Given the description of an element on the screen output the (x, y) to click on. 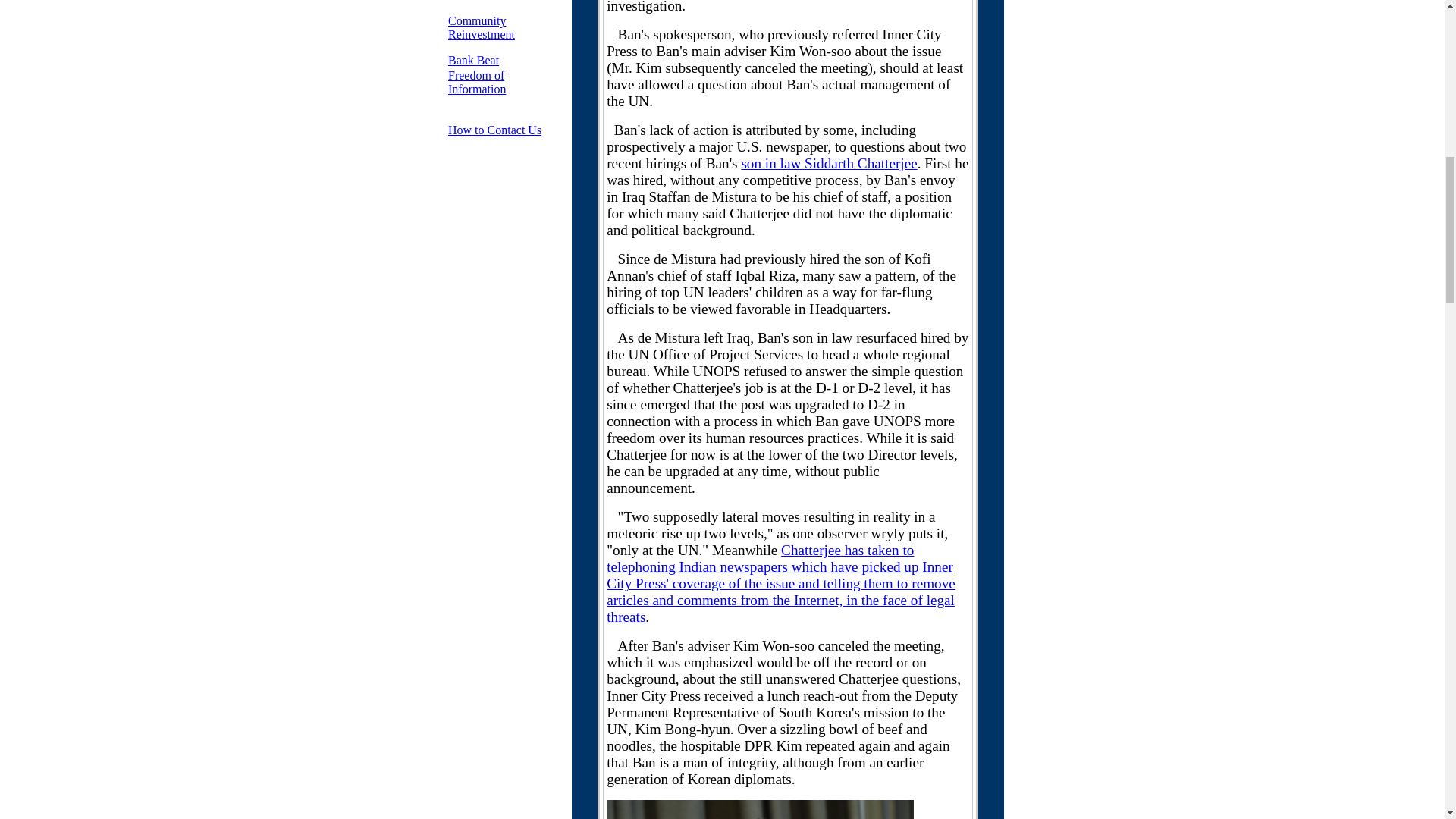
Freedom of Information (481, 27)
Bank Beat (476, 81)
